Given the description of an element on the screen output the (x, y) to click on. 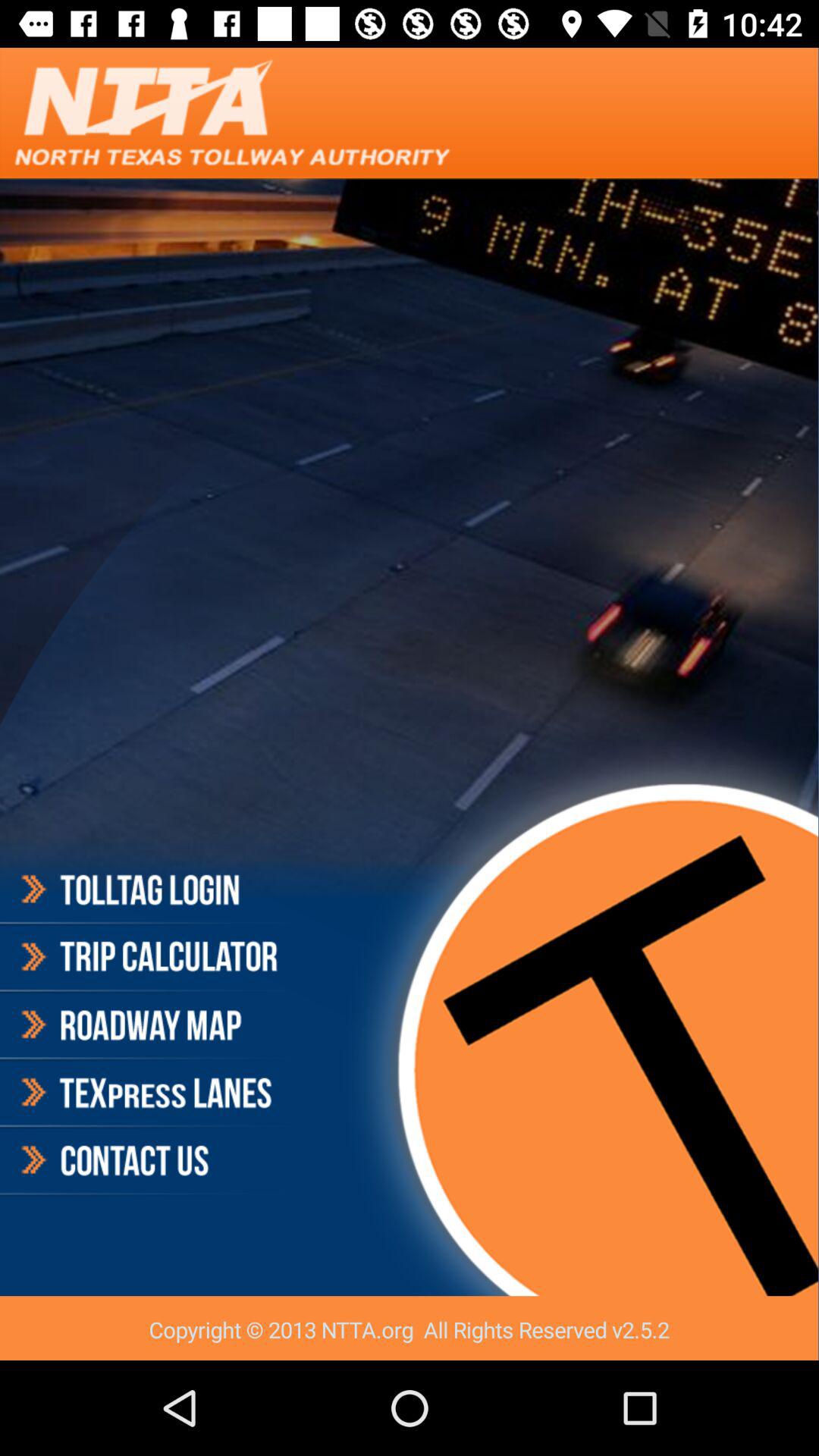
open trip calculator (147, 957)
